Given the description of an element on the screen output the (x, y) to click on. 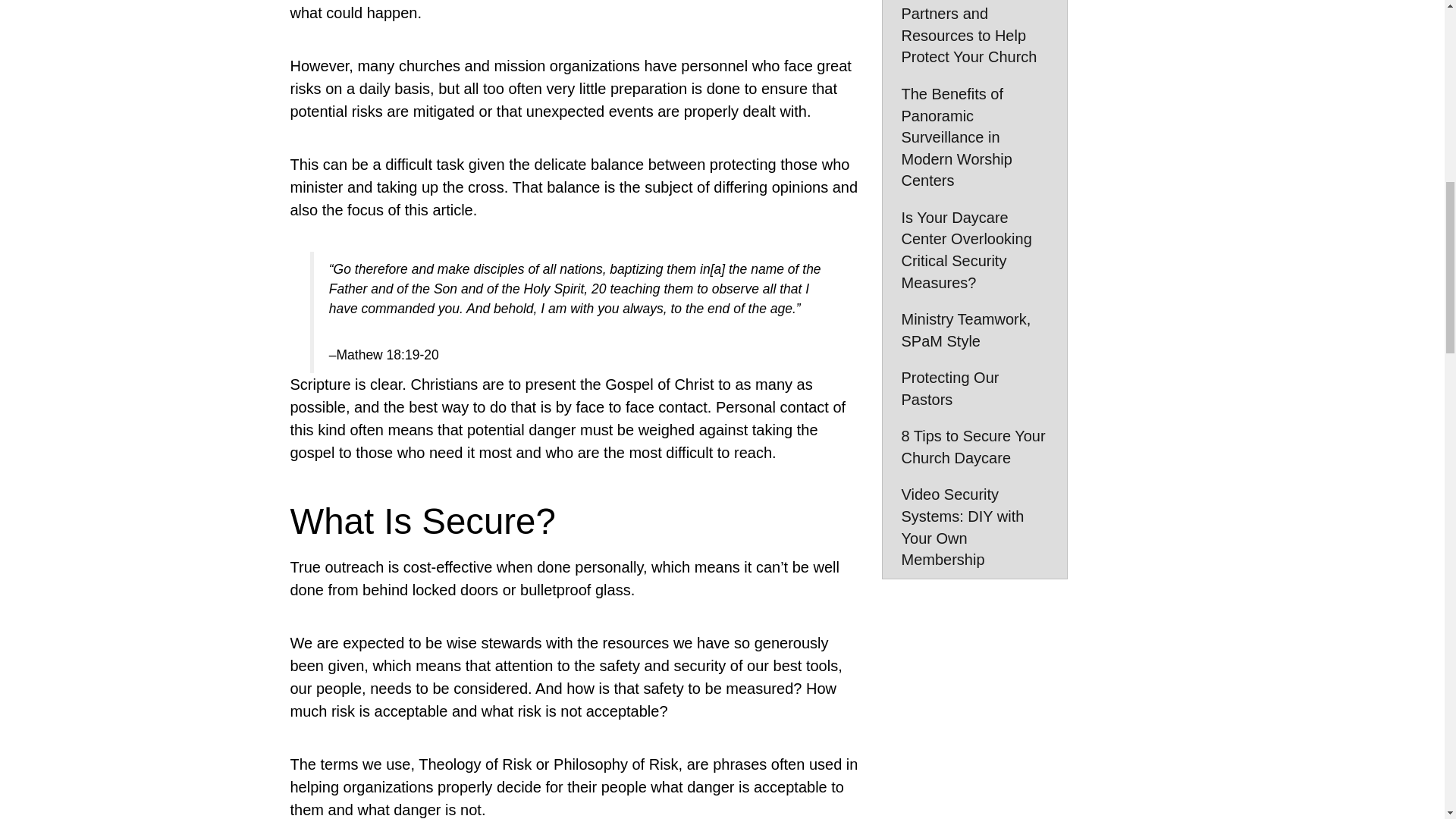
Video Security Systems: DIY with Your Own Membership (973, 526)
Partners and Resources to Help Protect Your Church (973, 38)
8 Tips to Secure Your Church Daycare (973, 446)
Protecting Our Pastors (973, 388)
Ministry Teamwork, SPaM Style (973, 330)
